Given the description of an element on the screen output the (x, y) to click on. 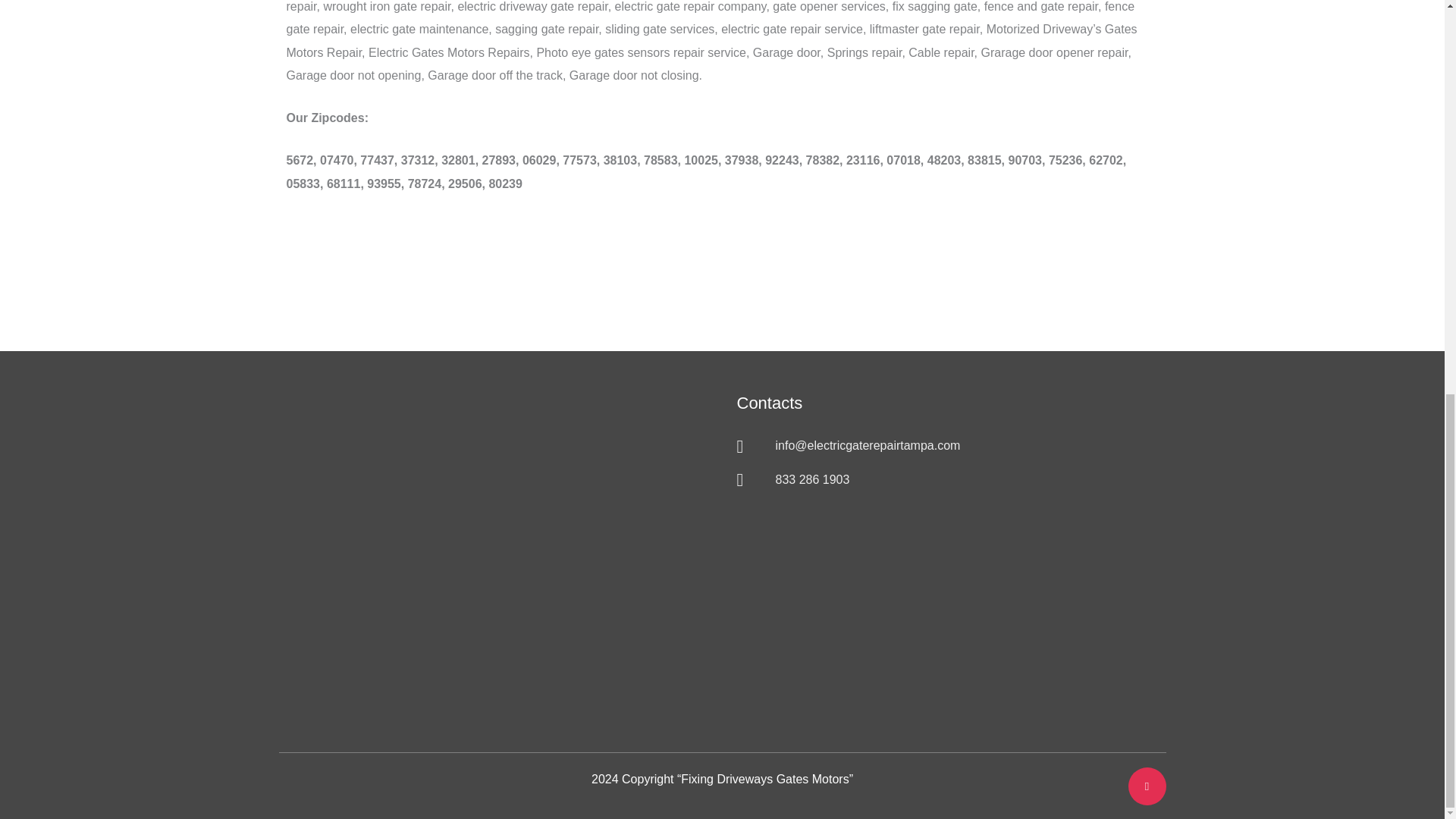
833 286 1903 (925, 479)
